Given the description of an element on the screen output the (x, y) to click on. 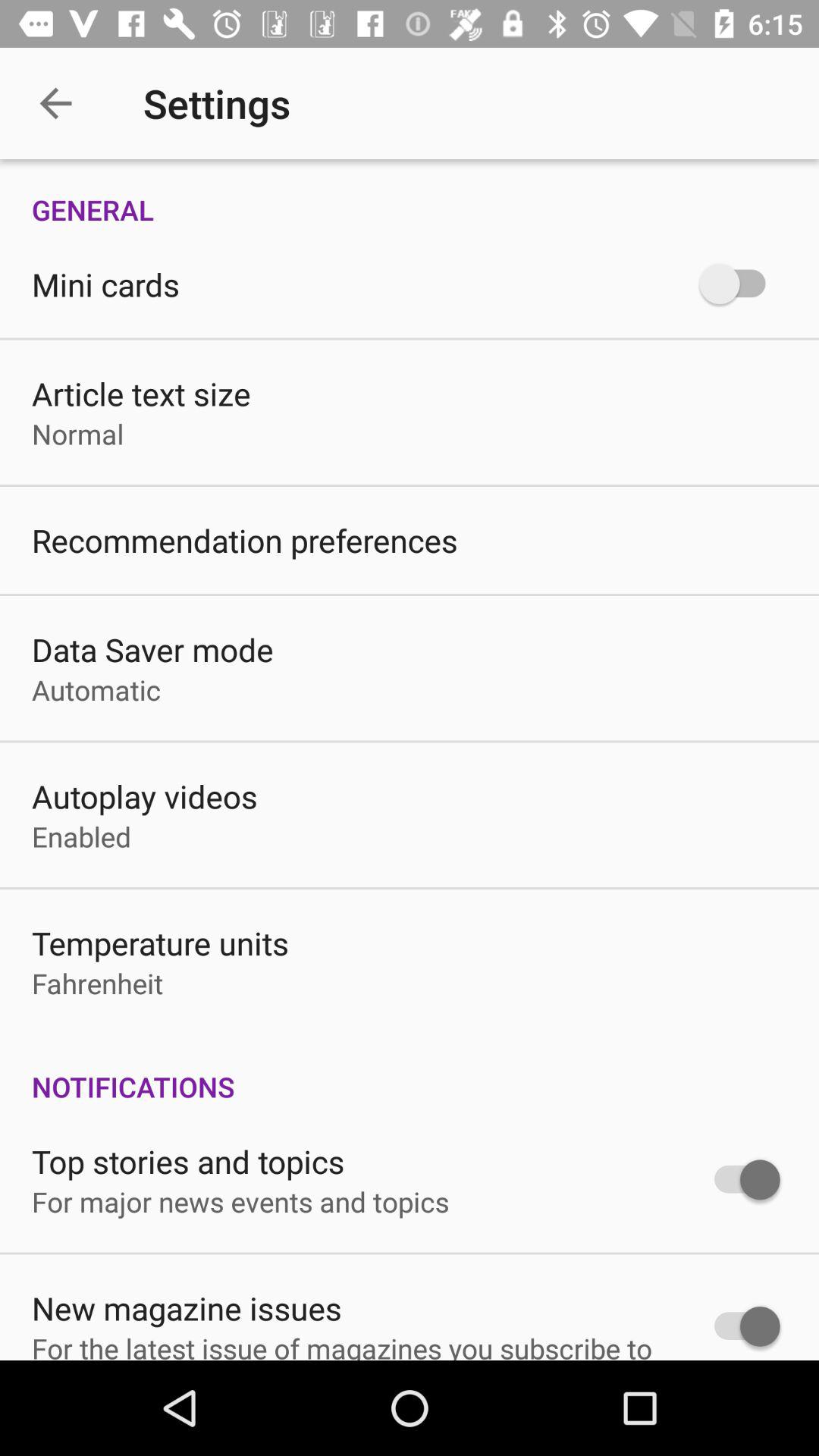
scroll until the top stories and item (187, 1161)
